Given the description of an element on the screen output the (x, y) to click on. 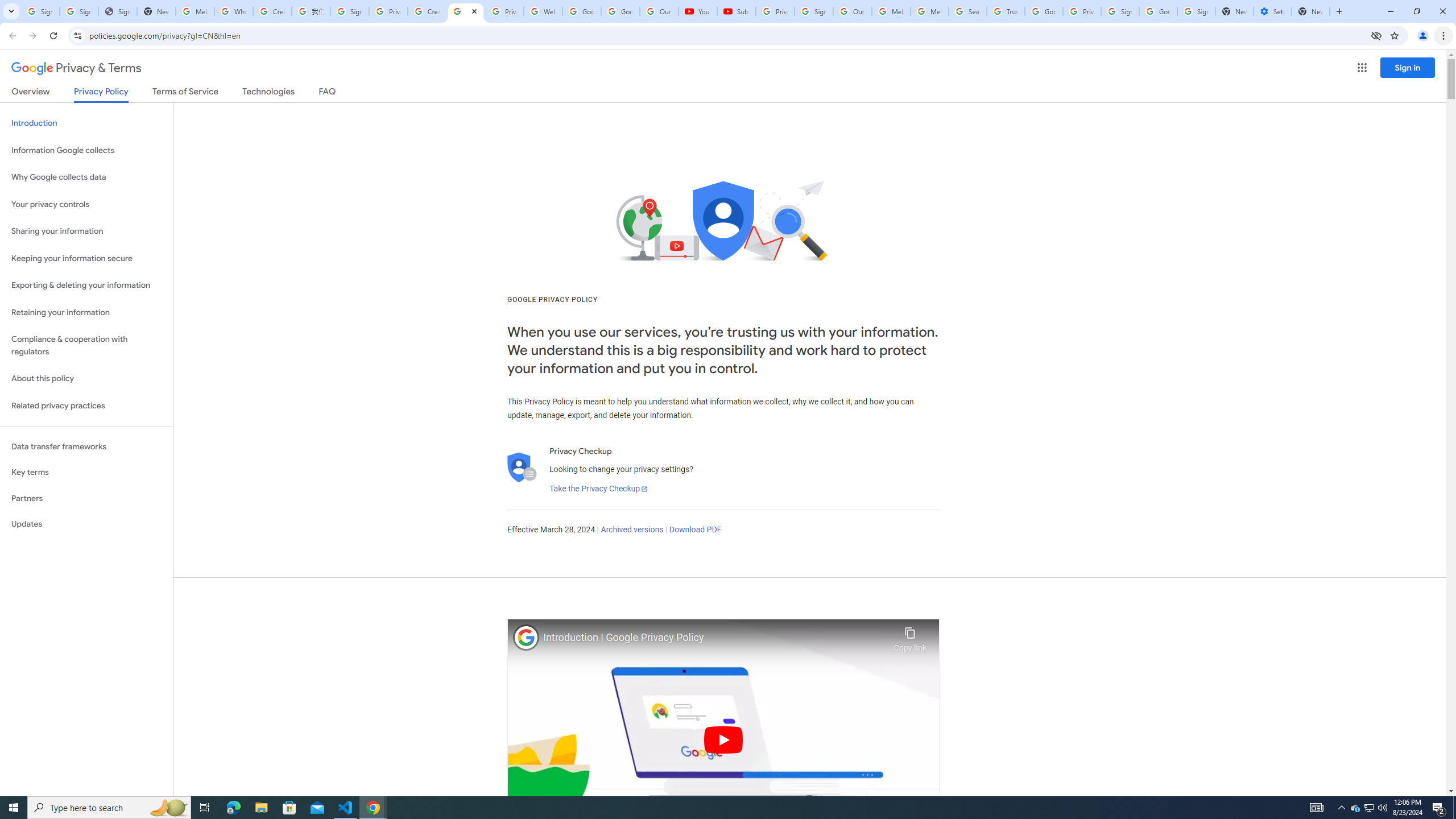
YouTube (697, 11)
